Given the description of an element on the screen output the (x, y) to click on. 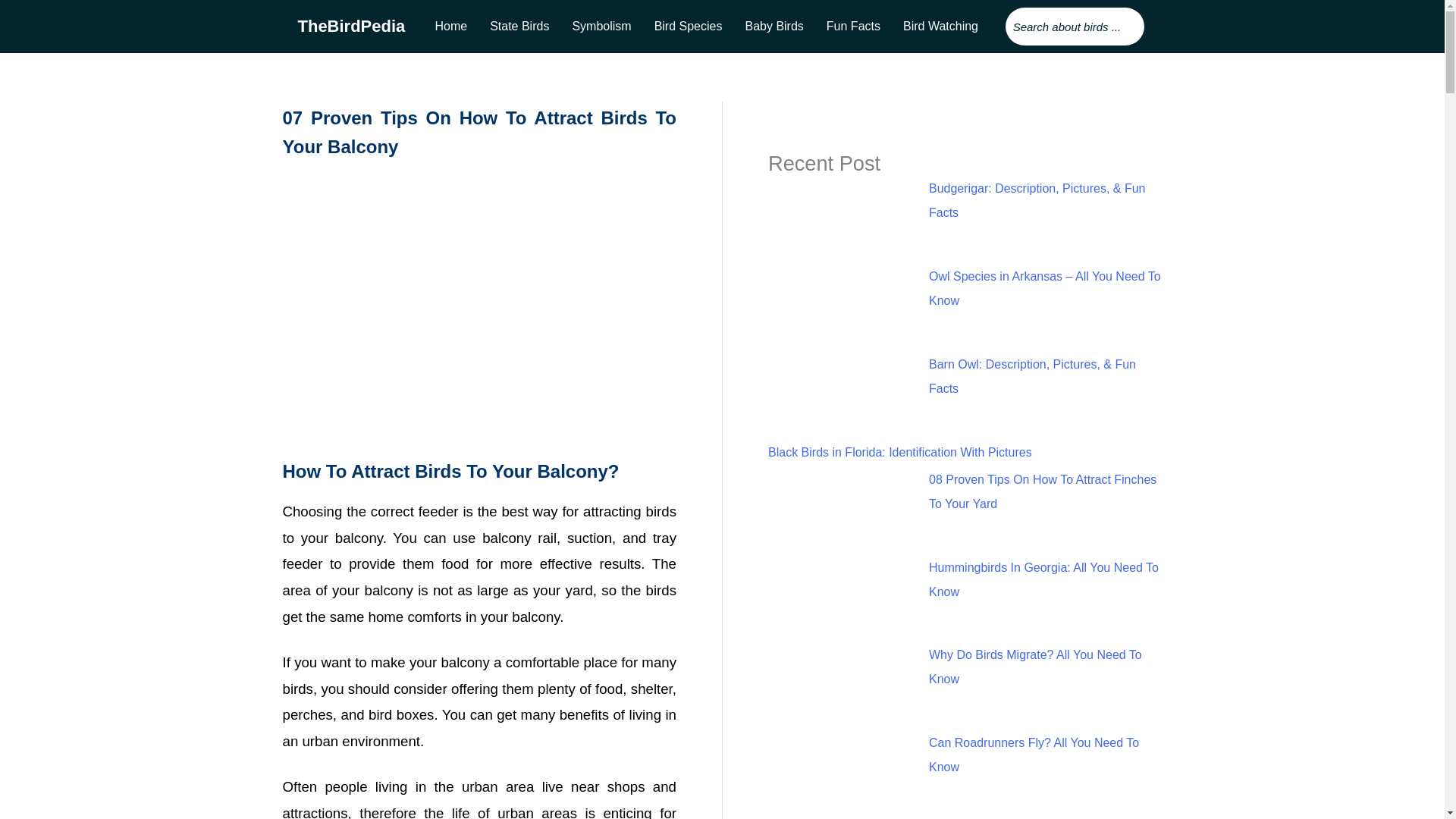
Can Roadrunners Fly? All You Need To Know (1033, 754)
Fun Facts (853, 26)
TheBirdPedia (350, 26)
08 Proven Tips On How To Attract Finches To Your Yard (1042, 491)
Black Birds in Florida: Identification With Pictures (900, 451)
Search (1075, 26)
Bird Watching (940, 26)
State Birds (519, 26)
Hummingbirds In Georgia: All You Need To Know (1043, 579)
Why Do Birds Migrate? All You Need To Know (1034, 666)
